Given the description of an element on the screen output the (x, y) to click on. 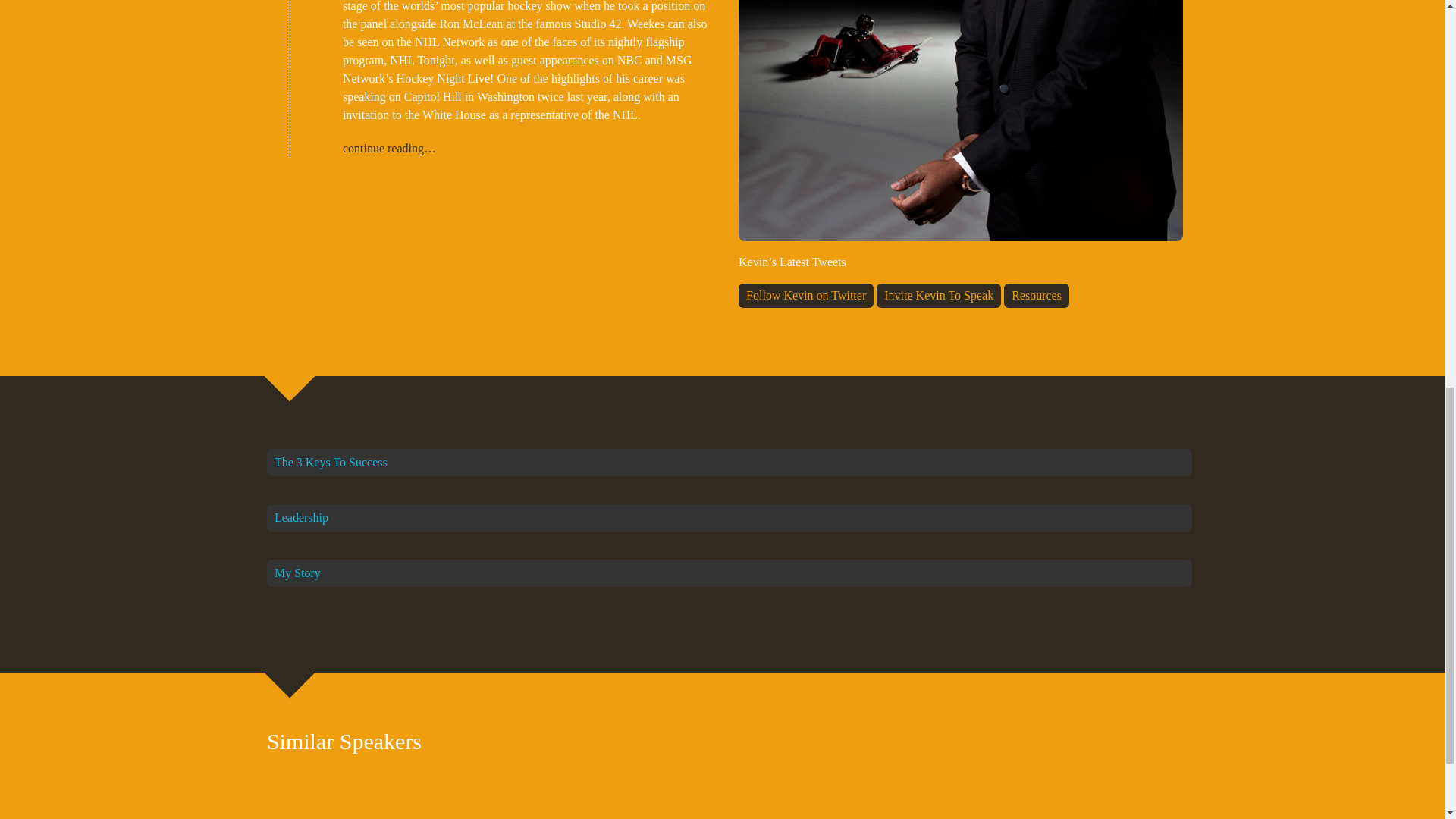
Invite Kevin To Speak (938, 295)
Follow Kevin on Twitter (805, 295)
Resources (1036, 295)
